Given the description of an element on the screen output the (x, y) to click on. 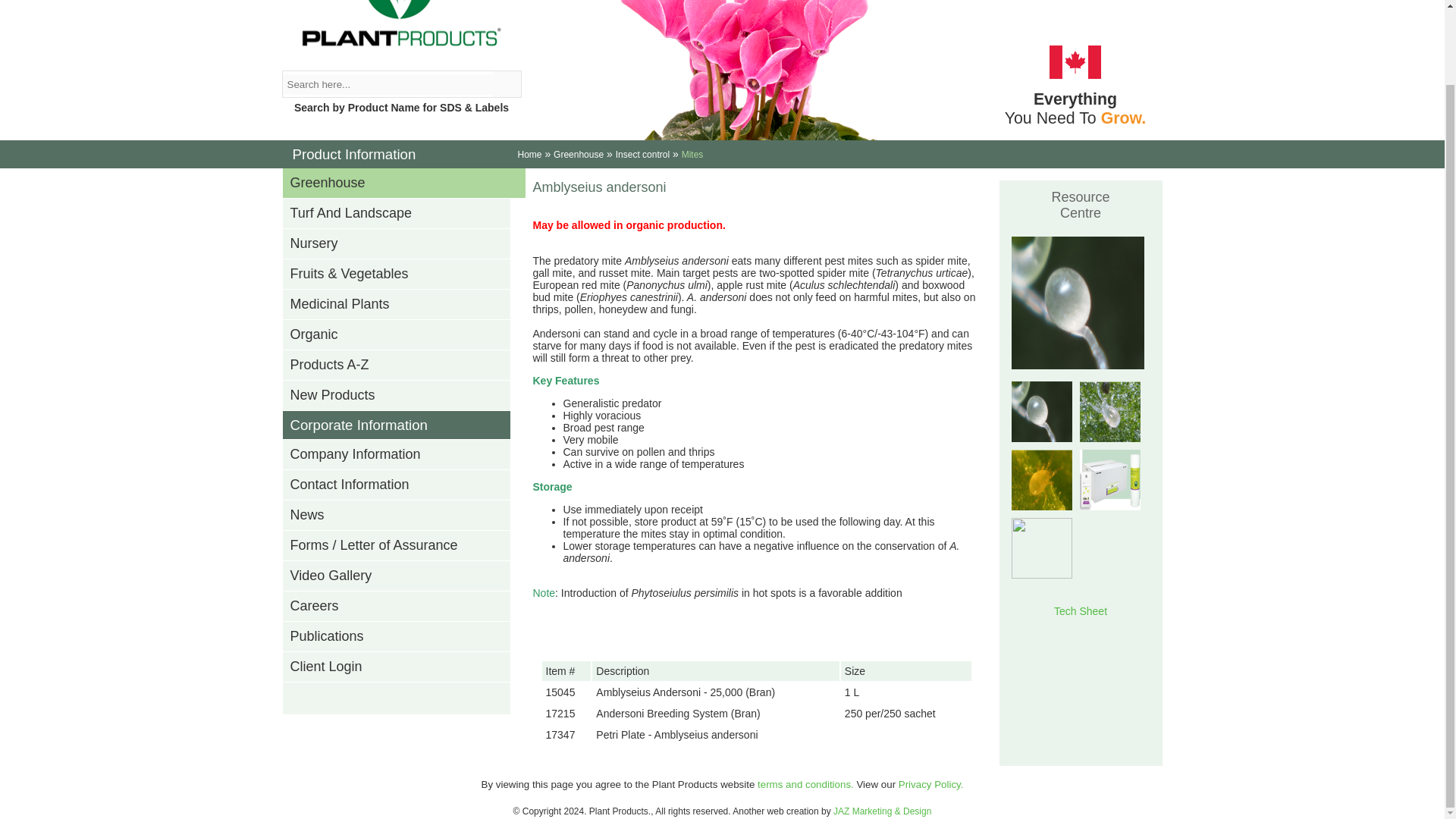
Greenhouse (403, 183)
Mites (692, 153)
Video Gallery (403, 576)
News (403, 515)
Company Information (403, 454)
Careers (403, 606)
Client Login (403, 666)
Medicinal Plants (403, 304)
Turf And Landscape (403, 214)
Publications (403, 636)
Products A-Z (403, 365)
Tech Sheet (1080, 611)
Greenhouse (578, 153)
Privacy Policy. (930, 784)
Insect control (642, 153)
